Given the description of an element on the screen output the (x, y) to click on. 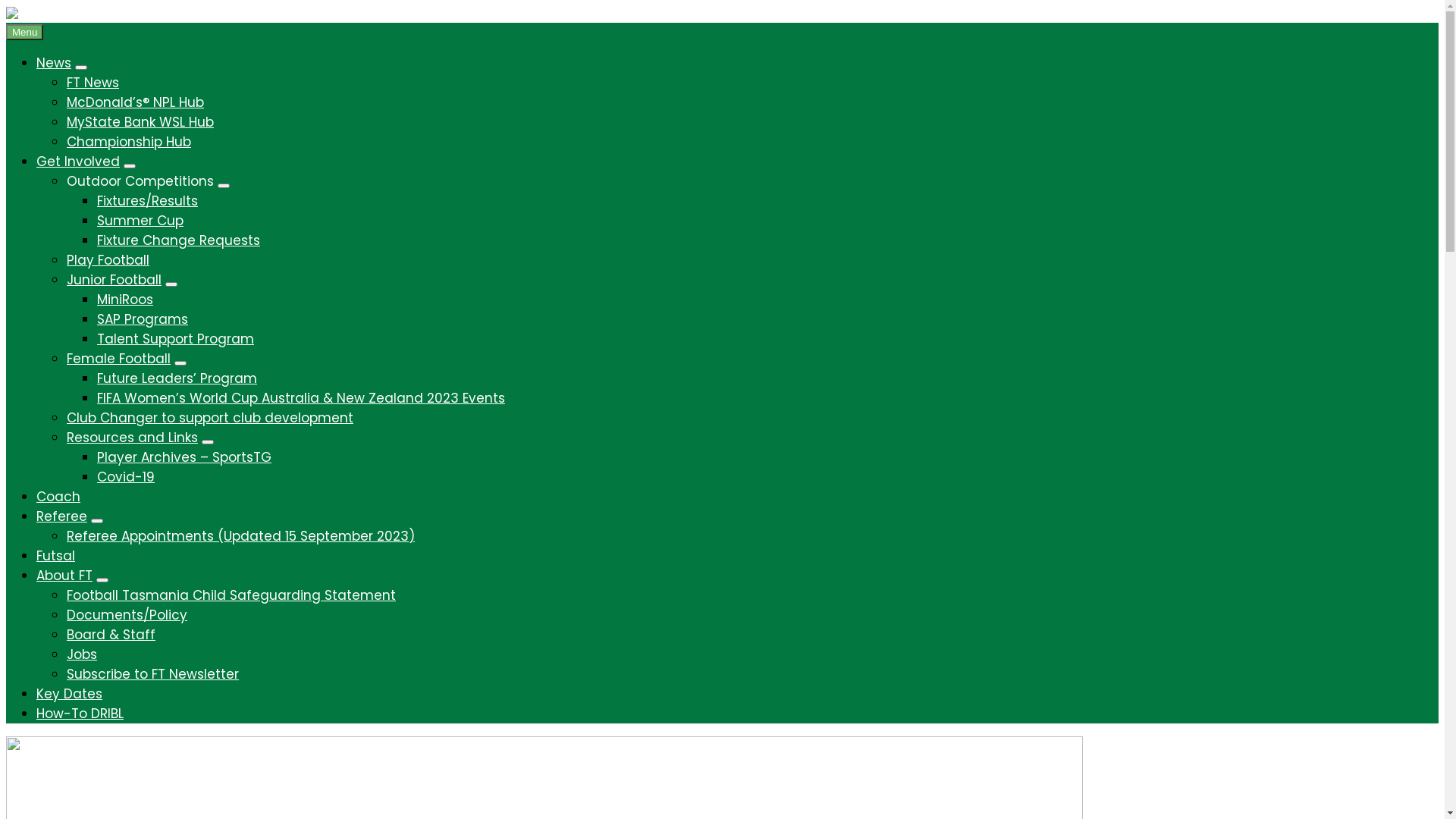
Female Football Element type: text (118, 358)
expand submenu Element type: text (102, 579)
Futsal Element type: text (55, 555)
Get Involved Element type: text (77, 161)
Referee Appointments (Updated 15 September 2023) Element type: text (240, 536)
How-To DRIBL Element type: text (79, 713)
FT News Element type: text (92, 82)
expand submenu Element type: text (171, 284)
Key Dates Element type: text (69, 693)
Outdoor Competitions Element type: text (139, 181)
Junior Football Element type: text (113, 279)
Board & Staff Element type: text (110, 634)
expand submenu Element type: text (81, 67)
Fixtures/Results Element type: text (147, 200)
Resources and Links Element type: text (131, 437)
Subscribe to FT Newsletter Element type: text (152, 674)
About FT Element type: text (64, 575)
expand submenu Element type: text (97, 520)
expand submenu Element type: text (129, 165)
Jobs Element type: text (81, 654)
expand submenu Element type: text (207, 441)
expand submenu Element type: text (223, 185)
MyState Bank WSL Hub Element type: text (139, 121)
Menu
Open the main menu Element type: text (24, 32)
Summer Cup Element type: text (140, 220)
SAP Programs Element type: text (142, 319)
Coach Element type: text (58, 496)
Covid-19 Element type: text (125, 476)
Championship Hub Element type: text (128, 141)
Play Football Element type: text (107, 260)
Documents/Policy Element type: text (126, 614)
Referee Element type: text (61, 516)
MiniRoos Element type: text (125, 299)
Talent Support Program Element type: text (175, 338)
expand submenu Element type: text (180, 362)
Football Tasmania Child Safeguarding Statement Element type: text (230, 595)
Club Changer to support club development Element type: text (209, 417)
Fixture Change Requests Element type: text (178, 240)
News Element type: text (53, 62)
